Given the description of an element on the screen output the (x, y) to click on. 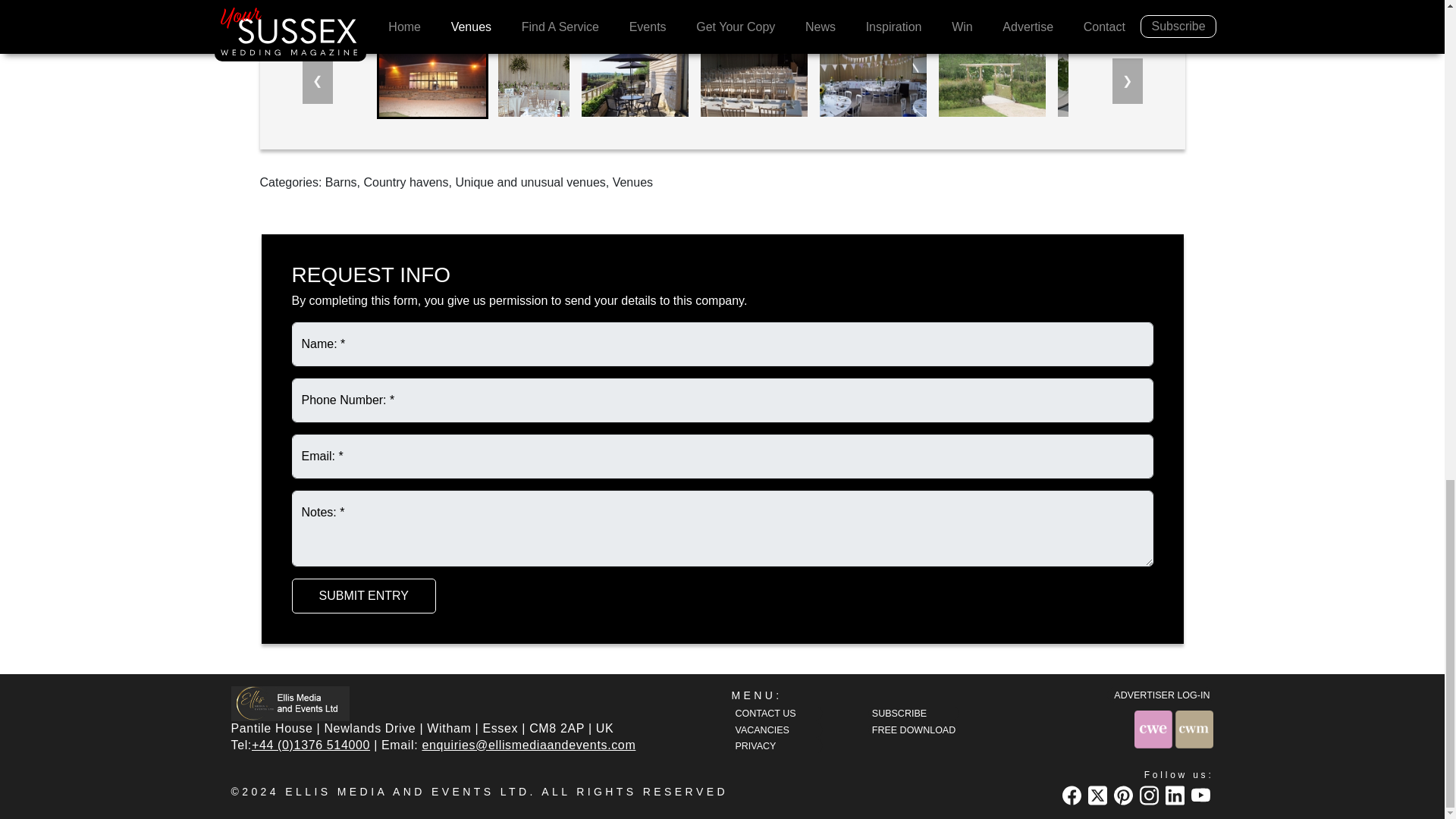
Submit Entry (363, 595)
Email Ellis Media and Events Ltd (528, 745)
FREE DOWNLOAD (913, 729)
Visit the Ellis Media and Events Ltd website (289, 702)
ELLIS MEDIA AND EVENTS LTD (407, 791)
Call Ellis Media and Events Ltd (310, 745)
Contact the team at Ellis Media and Events Ltd (776, 713)
ADVERTISER LOG-IN (1159, 694)
PRIVACY (776, 745)
Submit Entry (363, 595)
VACANCIES (776, 729)
SUBSCRIBE (913, 713)
CONTACT US (776, 713)
